Given the description of an element on the screen output the (x, y) to click on. 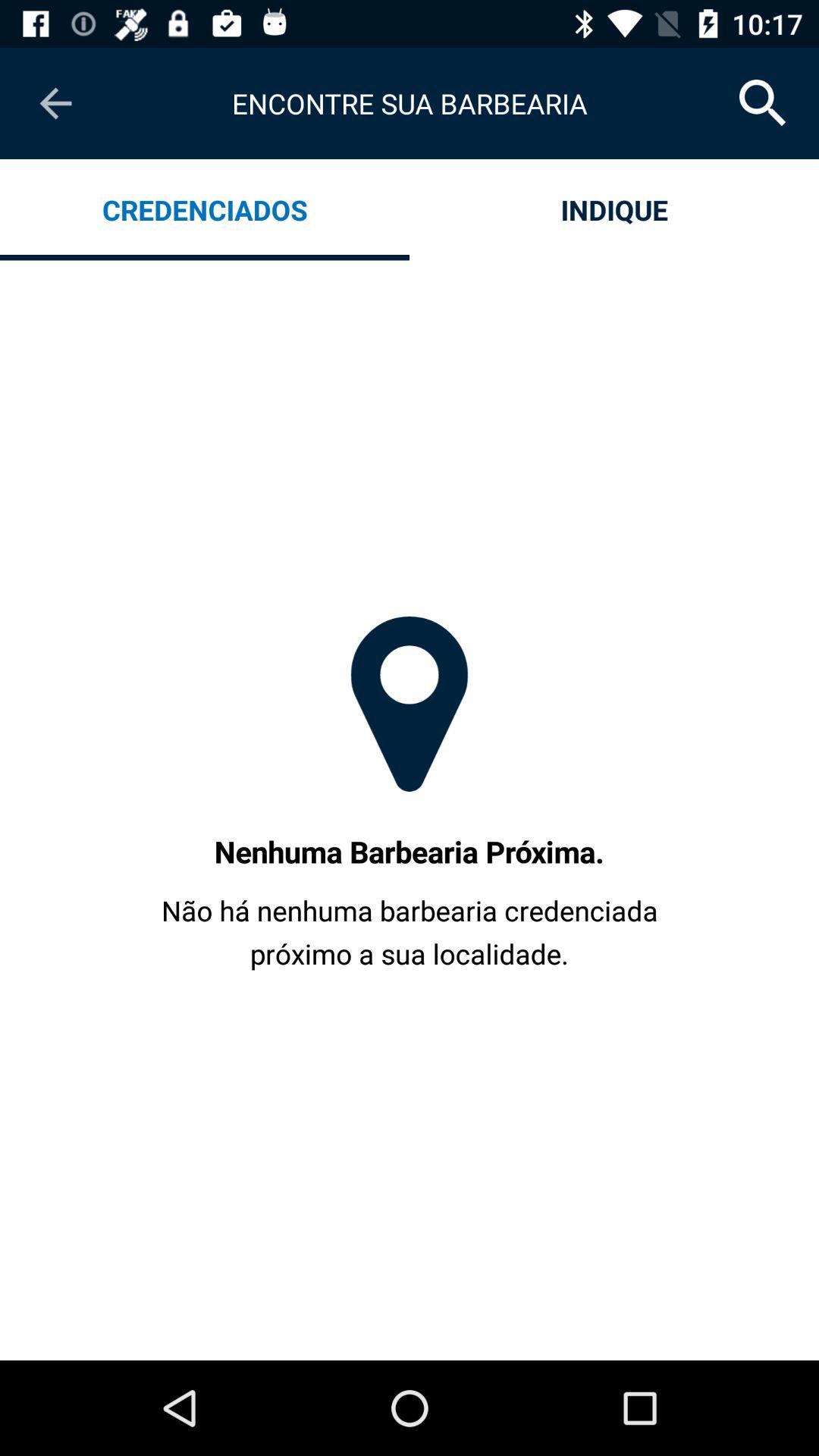
click the credenciados app (204, 209)
